Given the description of an element on the screen output the (x, y) to click on. 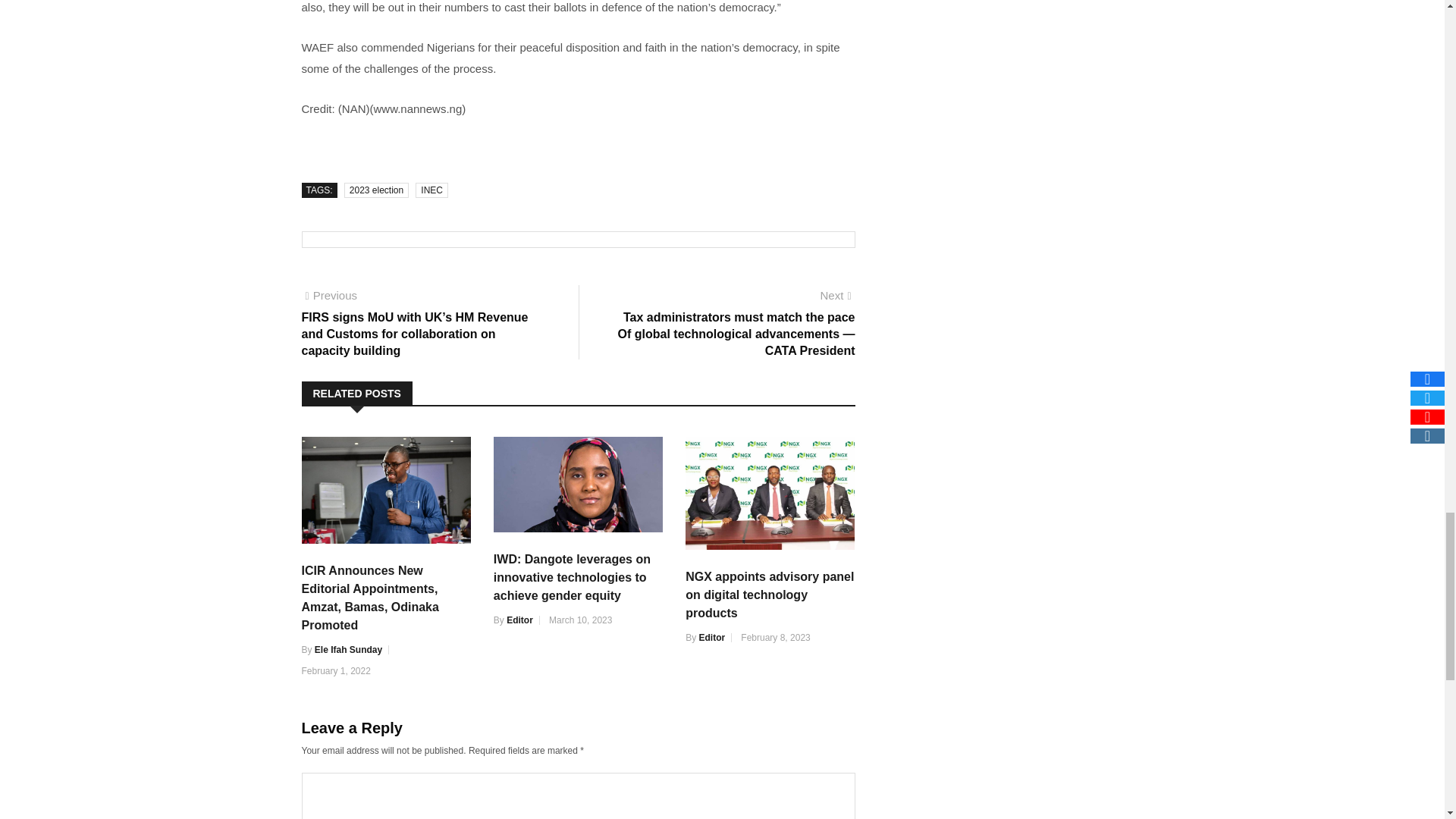
INEC (431, 190)
2023 election (376, 190)
